Given the description of an element on the screen output the (x, y) to click on. 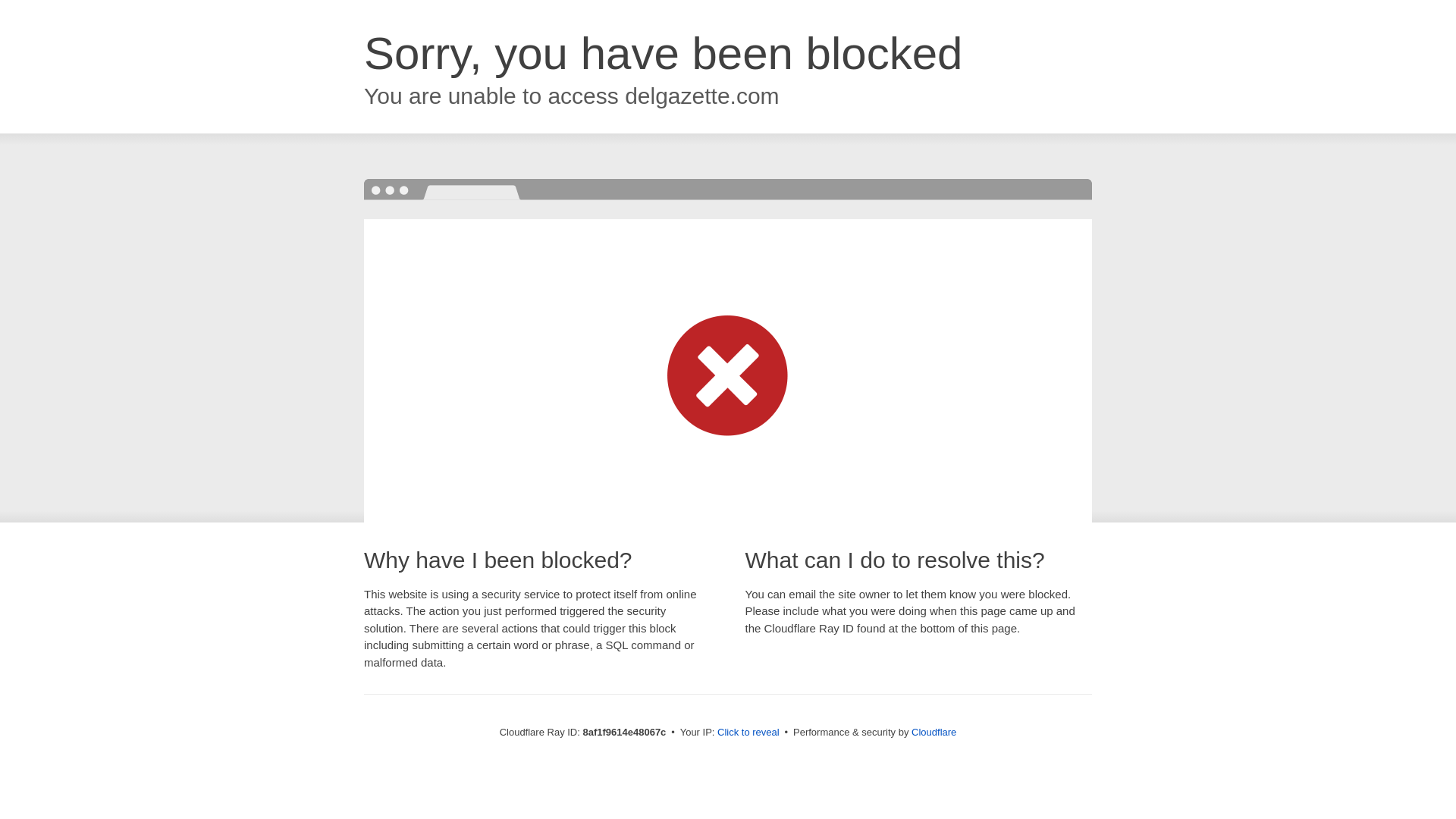
Cloudflare (933, 731)
Click to reveal (747, 732)
